Given the description of an element on the screen output the (x, y) to click on. 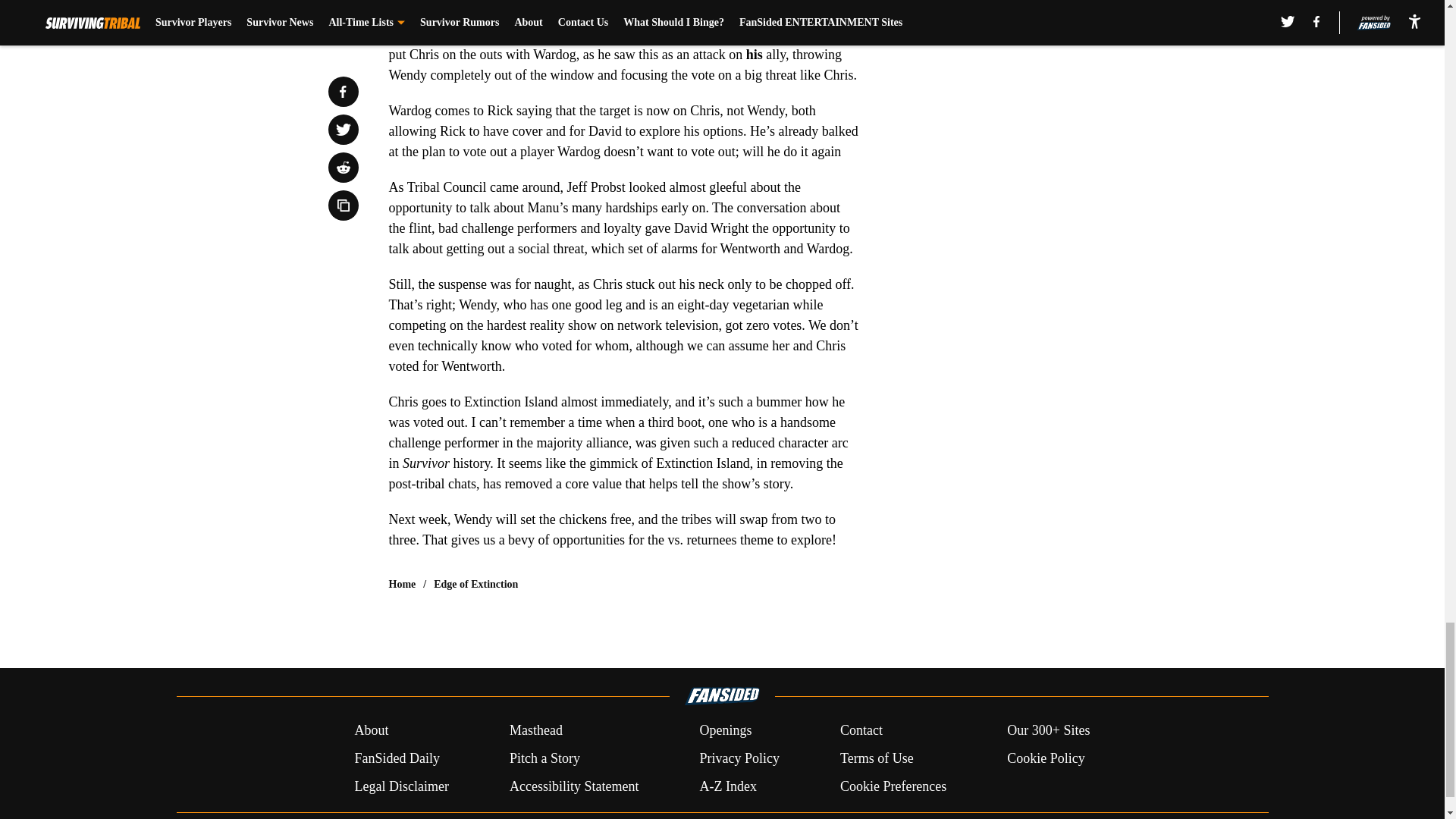
Pitch a Story (544, 758)
Cookie Policy (1045, 758)
Masthead (535, 730)
Openings (724, 730)
Contact (861, 730)
Terms of Use (877, 758)
Privacy Policy (738, 758)
About (370, 730)
Accessibility Statement (574, 786)
Home (401, 584)
Legal Disclaimer (400, 786)
Edge of Extinction (475, 584)
FanSided Daily (396, 758)
